Given the description of an element on the screen output the (x, y) to click on. 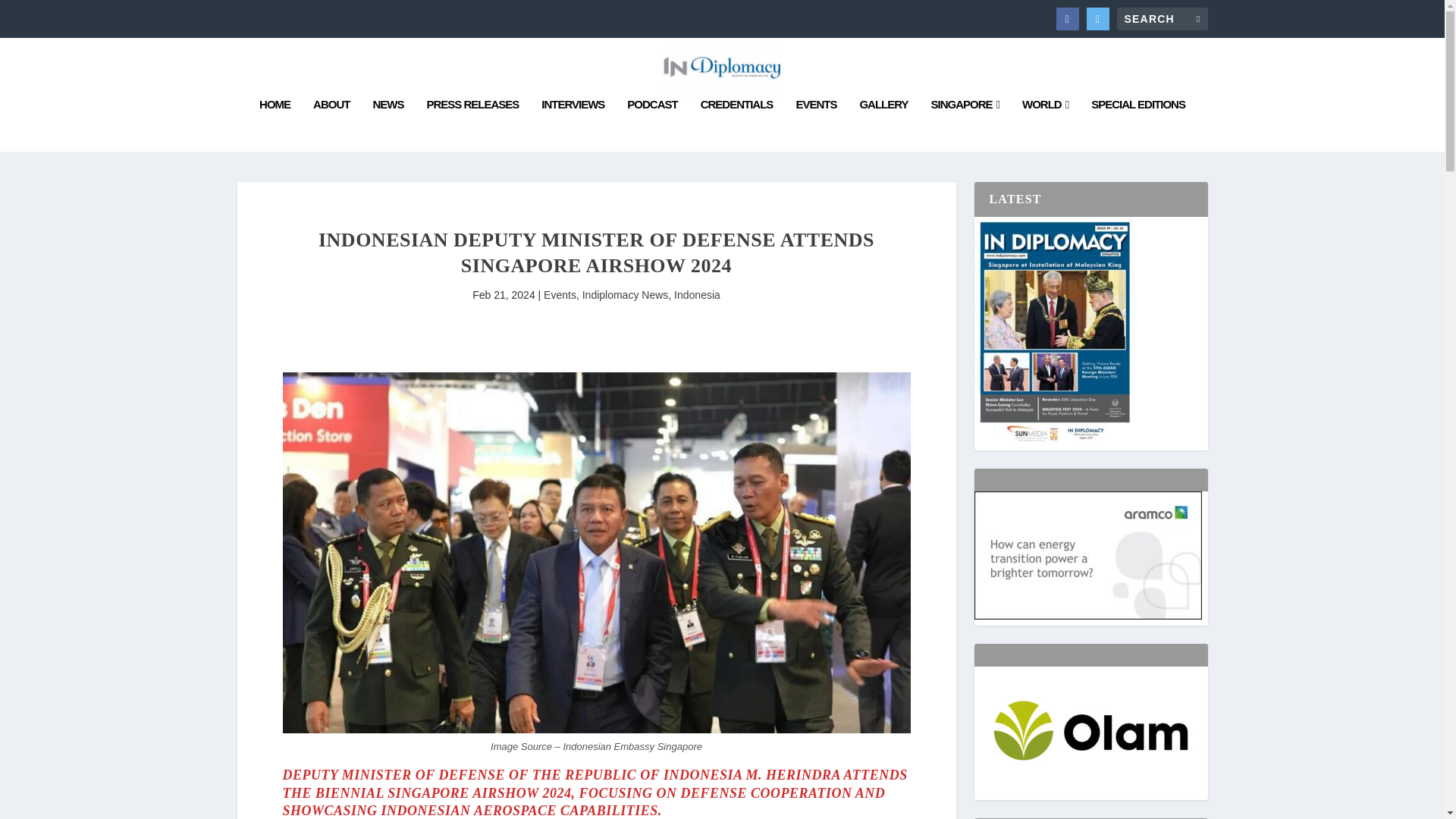
SINGAPORE (965, 124)
CREDENTIALS (736, 124)
INTERVIEWS (572, 124)
Search for: (1161, 18)
GALLERY (883, 124)
PODCAST (652, 124)
PRESS RELEASES (472, 124)
